Given the description of an element on the screen output the (x, y) to click on. 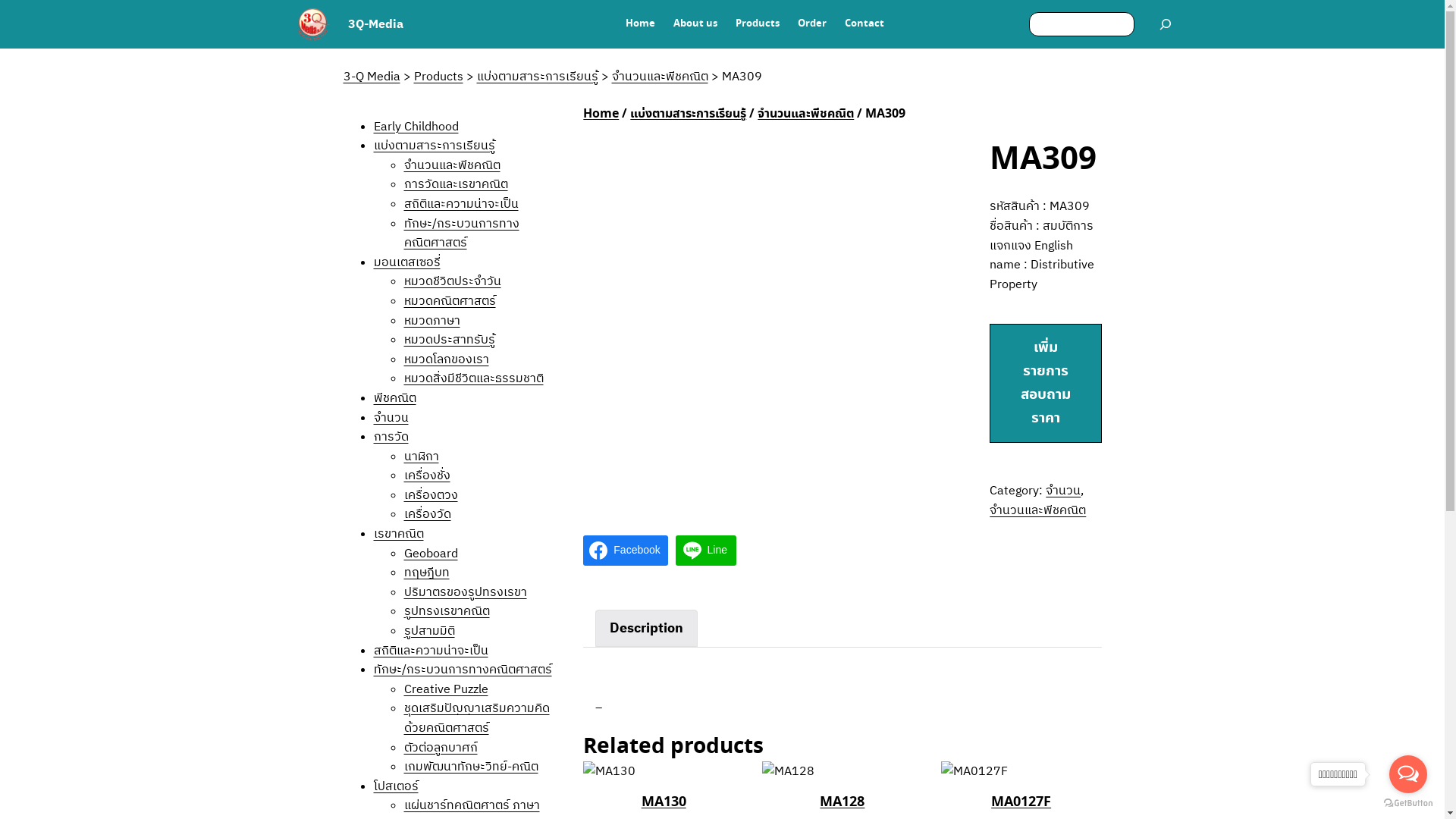
MA130 Element type: text (663, 802)
Line Element type: text (705, 550)
Products Element type: text (438, 75)
Order Element type: text (811, 23)
Facebook Element type: text (625, 550)
Early Childhood Element type: text (415, 125)
Products Element type: text (757, 23)
Home Element type: text (640, 23)
Creative Puzzle Element type: text (445, 688)
MA128 Element type: text (841, 802)
About us Element type: text (695, 23)
Geoboard Element type: text (430, 552)
Home Element type: text (600, 113)
MA0127F Element type: text (1021, 802)
Contact Element type: text (864, 23)
3-Q Media Element type: text (370, 75)
Description Element type: text (646, 628)
